Given the description of an element on the screen output the (x, y) to click on. 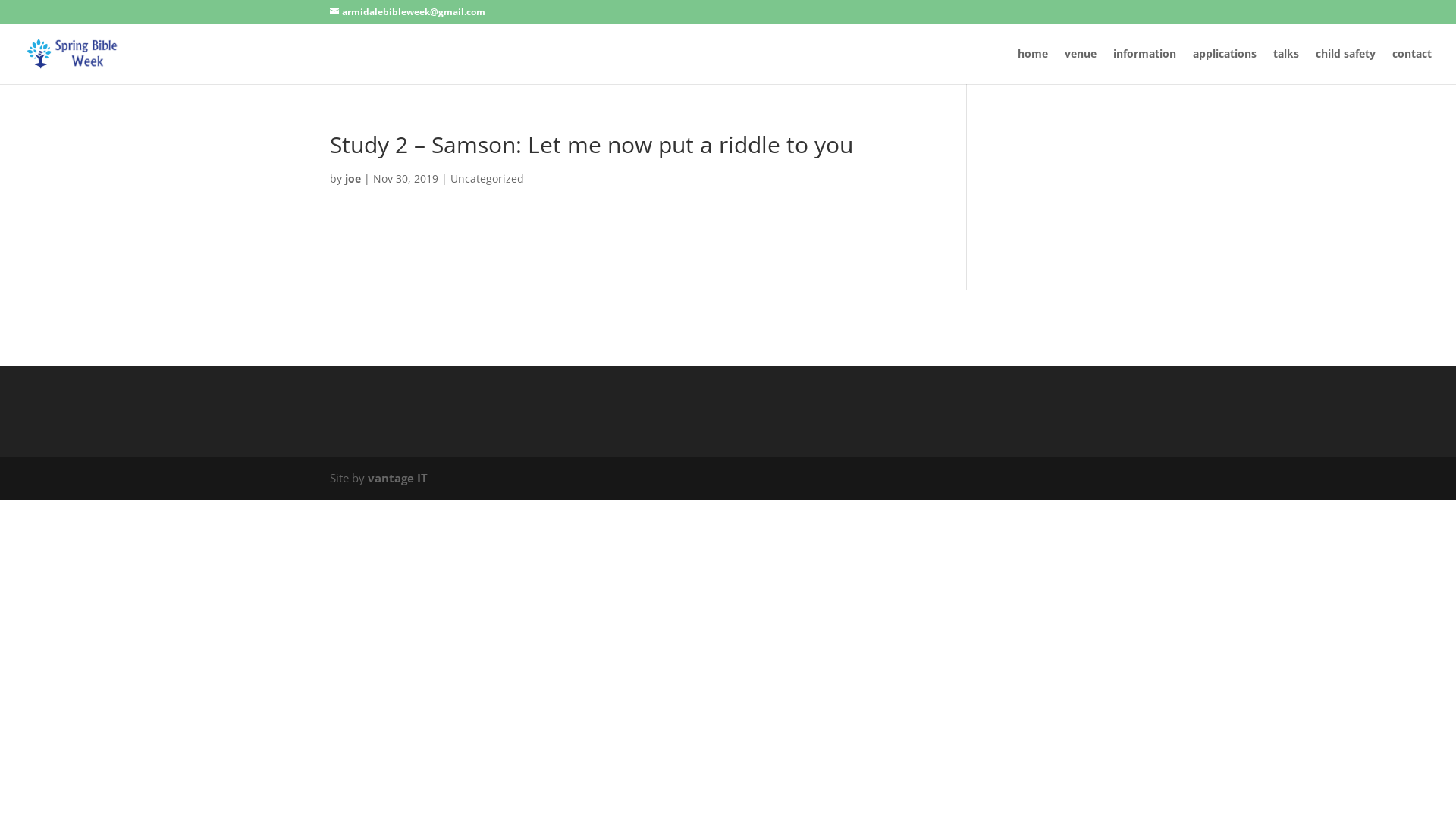
contact Element type: text (1411, 66)
talks Element type: text (1286, 66)
home Element type: text (1032, 66)
child safety Element type: text (1345, 66)
venue Element type: text (1080, 66)
armidalebibleweek@gmail.com Element type: text (407, 11)
joe Element type: text (352, 178)
information Element type: text (1144, 66)
applications Element type: text (1224, 66)
vantage IT Element type: text (397, 477)
